Given the description of an element on the screen output the (x, y) to click on. 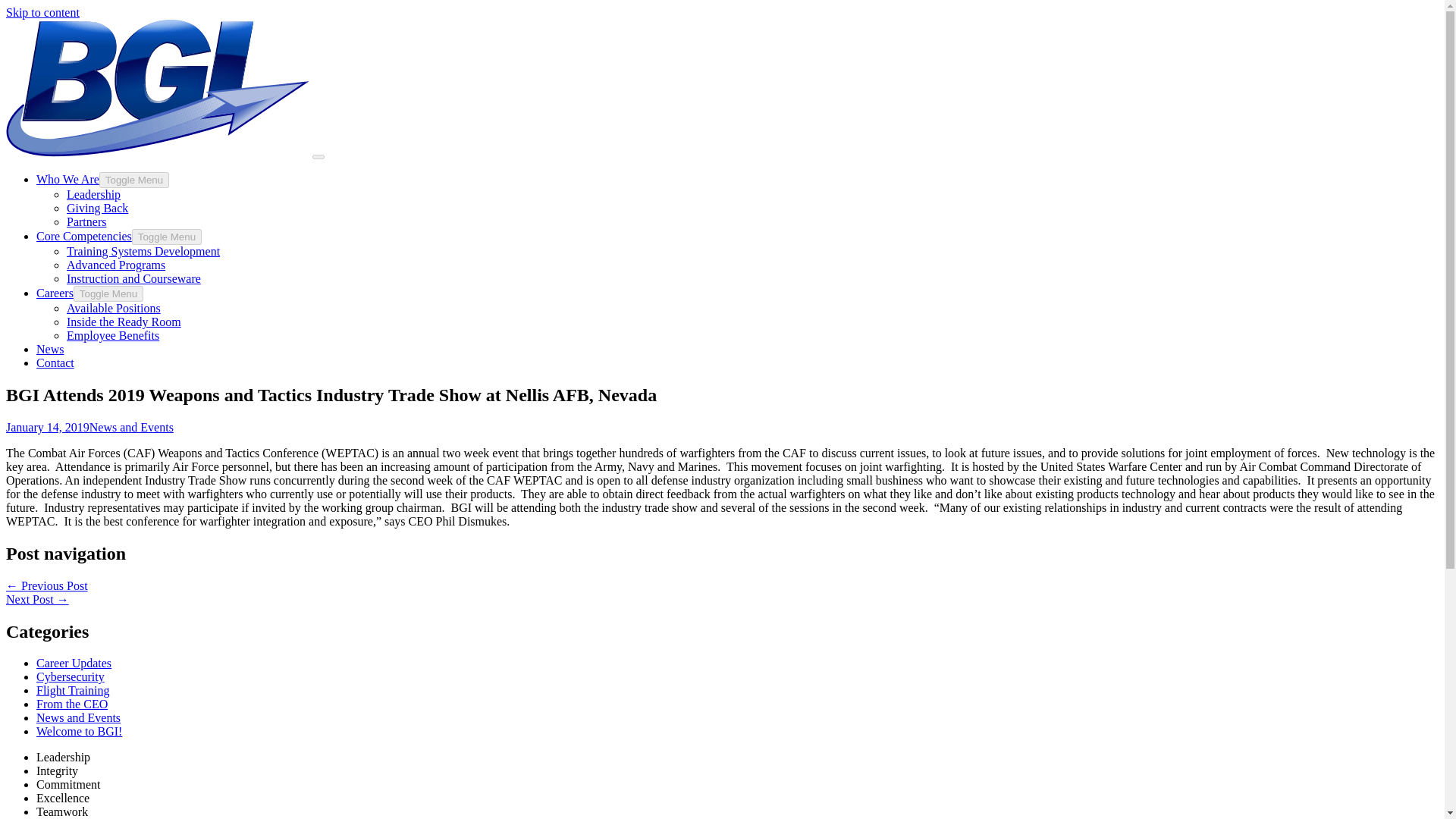
January 14, 2019 (46, 427)
Advanced Programs (115, 264)
News and Events (130, 427)
Giving Back (97, 207)
Career Updates (74, 662)
Toggle Menu (108, 293)
Who We Are (67, 178)
News (50, 349)
Inside the Ready Room (123, 321)
Toggle Menu (133, 179)
Cybersecurity (70, 676)
Core Competencies (84, 236)
Welcome to BGI! (79, 730)
News and Events (78, 717)
Toggle Menu (167, 236)
